Given the description of an element on the screen output the (x, y) to click on. 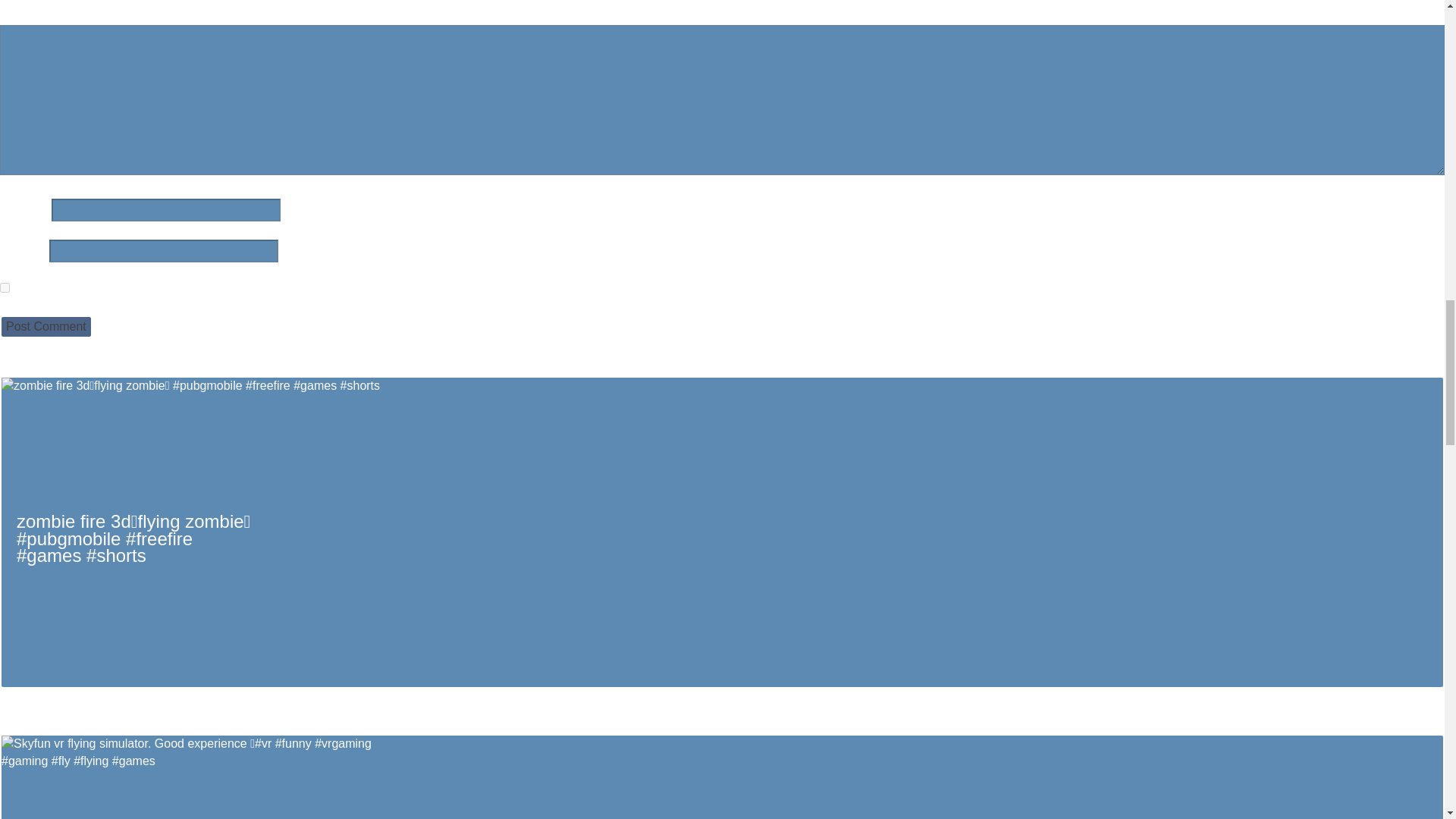
Post Comment (46, 326)
yes (5, 287)
Post Comment (46, 326)
